Given the description of an element on the screen output the (x, y) to click on. 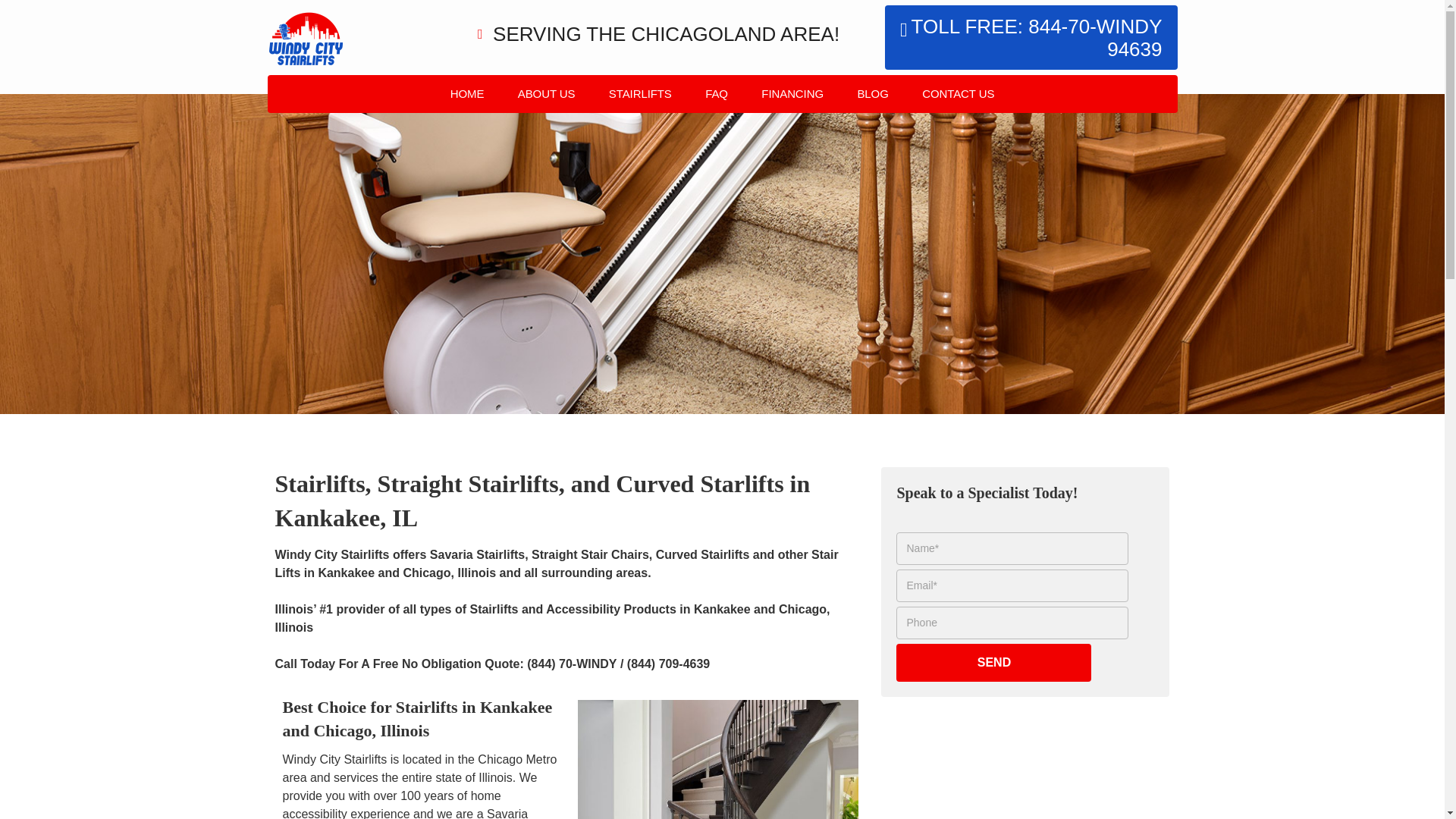
Send (993, 662)
BLOG (871, 94)
STAIRLIFTS (480, 35)
HOME (467, 94)
HOME (307, 35)
FINANCING (791, 94)
STAIRLIFTS (640, 94)
ABOUT US (546, 94)
Send (993, 662)
FAQ (556, 35)
FINANCING (632, 35)
ABOUT US (386, 35)
CONTACT US (1030, 36)
FAQ (958, 94)
